Given the description of an element on the screen output the (x, y) to click on. 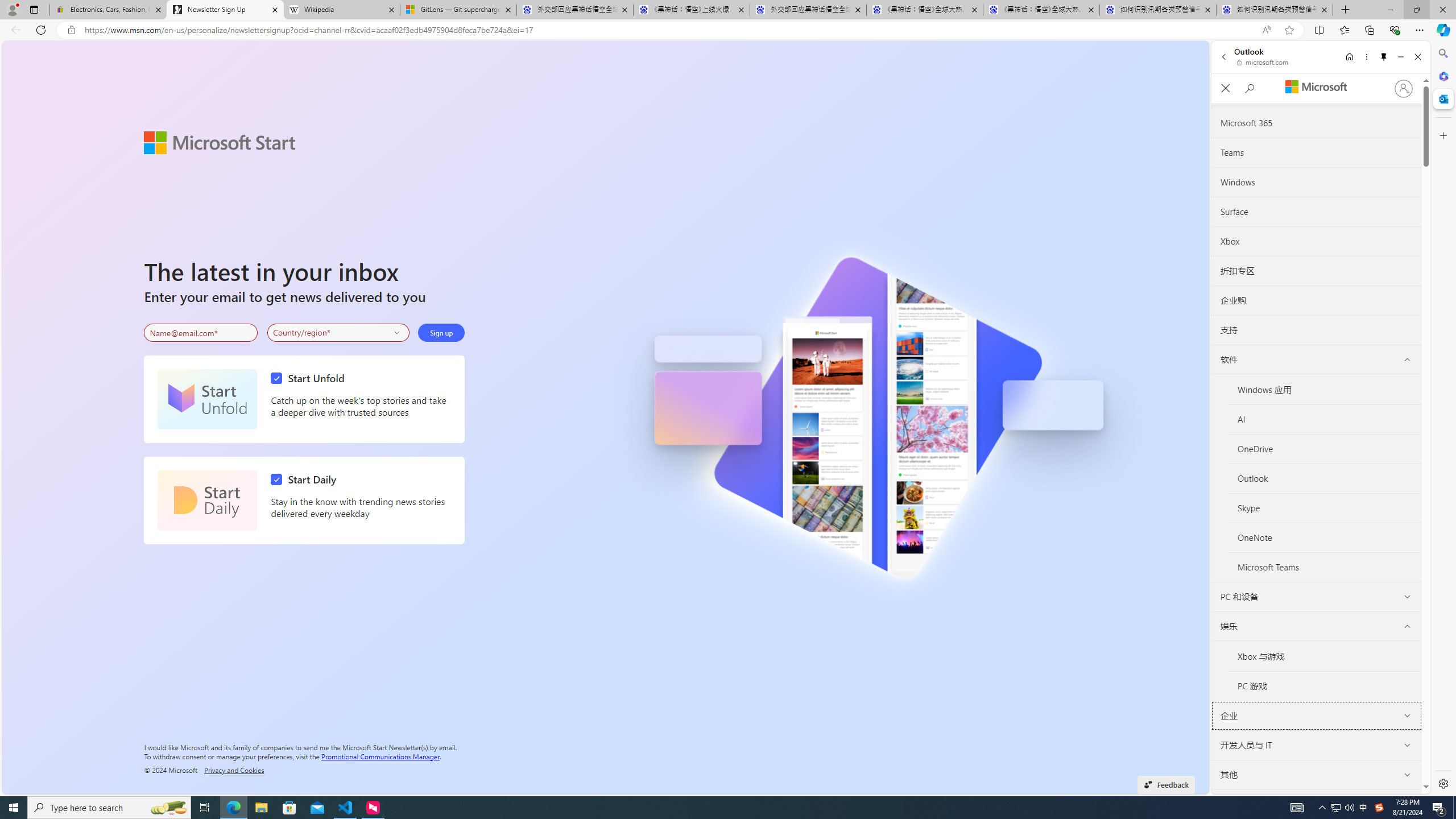
Teams (1316, 152)
Windows (1316, 182)
